Given the description of an element on the screen output the (x, y) to click on. 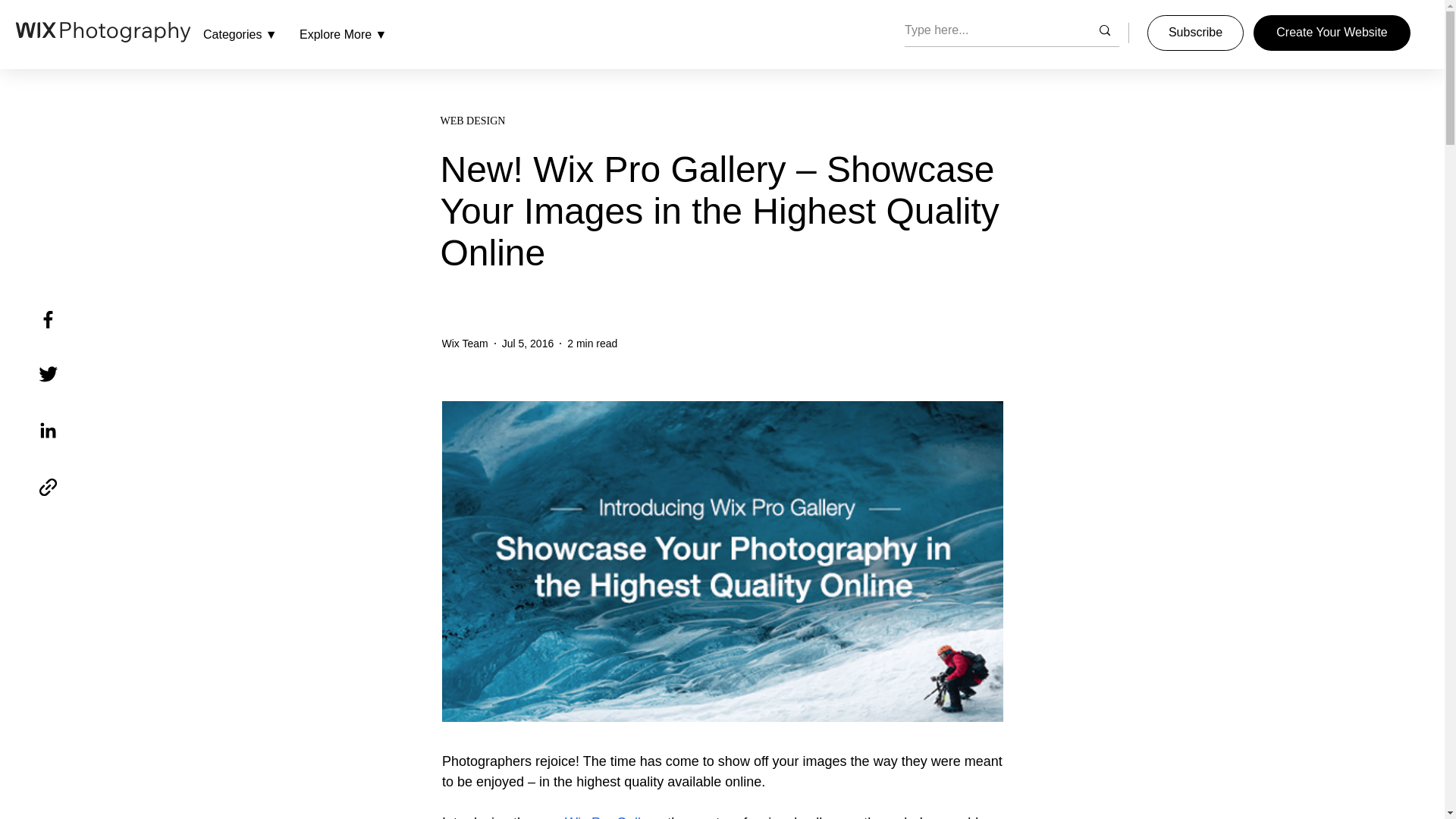
Jul 5, 2016 (528, 342)
Subscribe (1195, 32)
Create Your Website (1331, 32)
Wix Team (464, 342)
Wix Pro Gallery (611, 816)
Wix Team (464, 342)
2 min read (592, 342)
WEB DESIGN (720, 120)
